Given the description of an element on the screen output the (x, y) to click on. 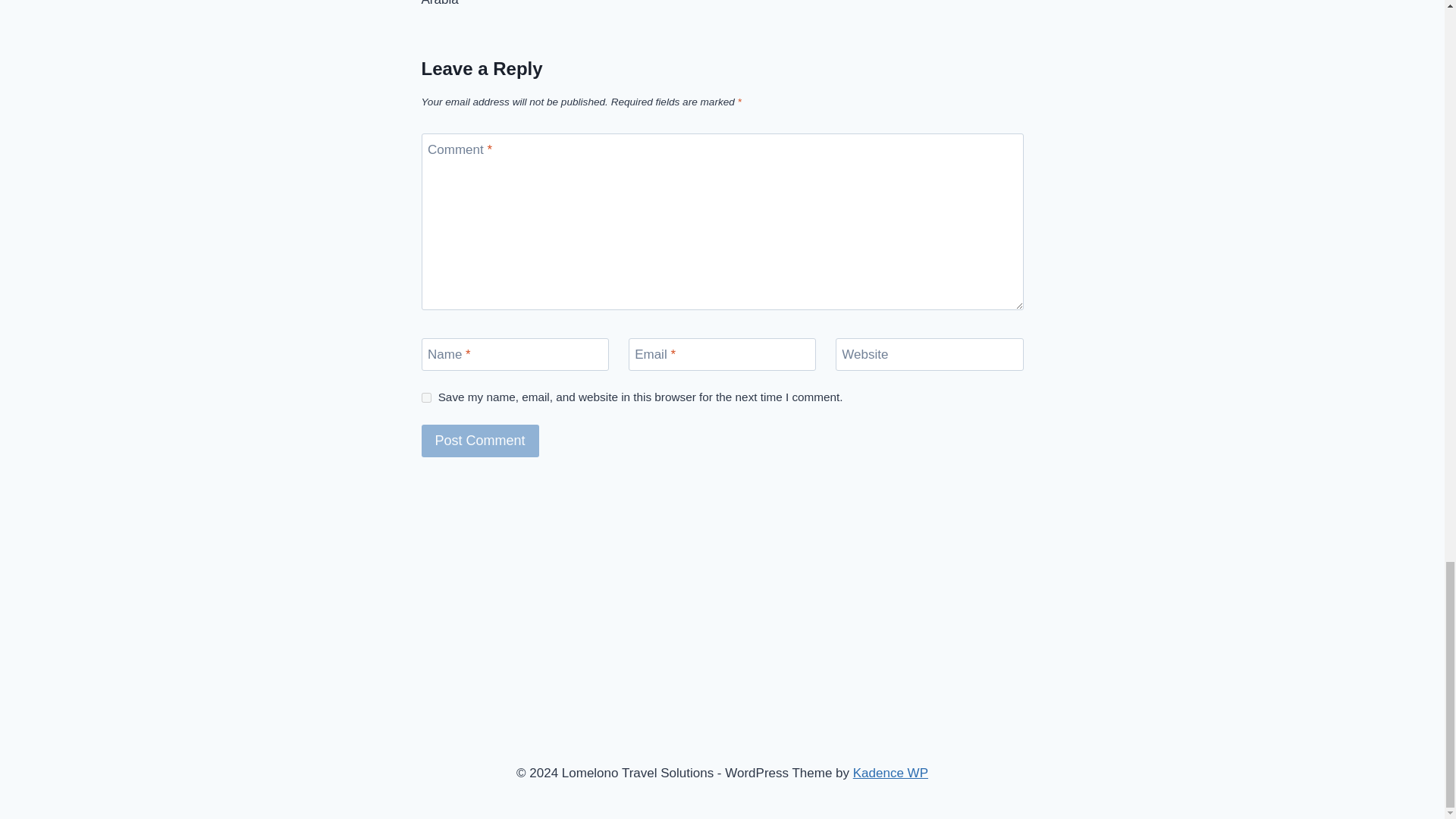
yes (426, 397)
Post Comment (480, 441)
Post Comment (480, 441)
Kadence WP (890, 772)
